Given the description of an element on the screen output the (x, y) to click on. 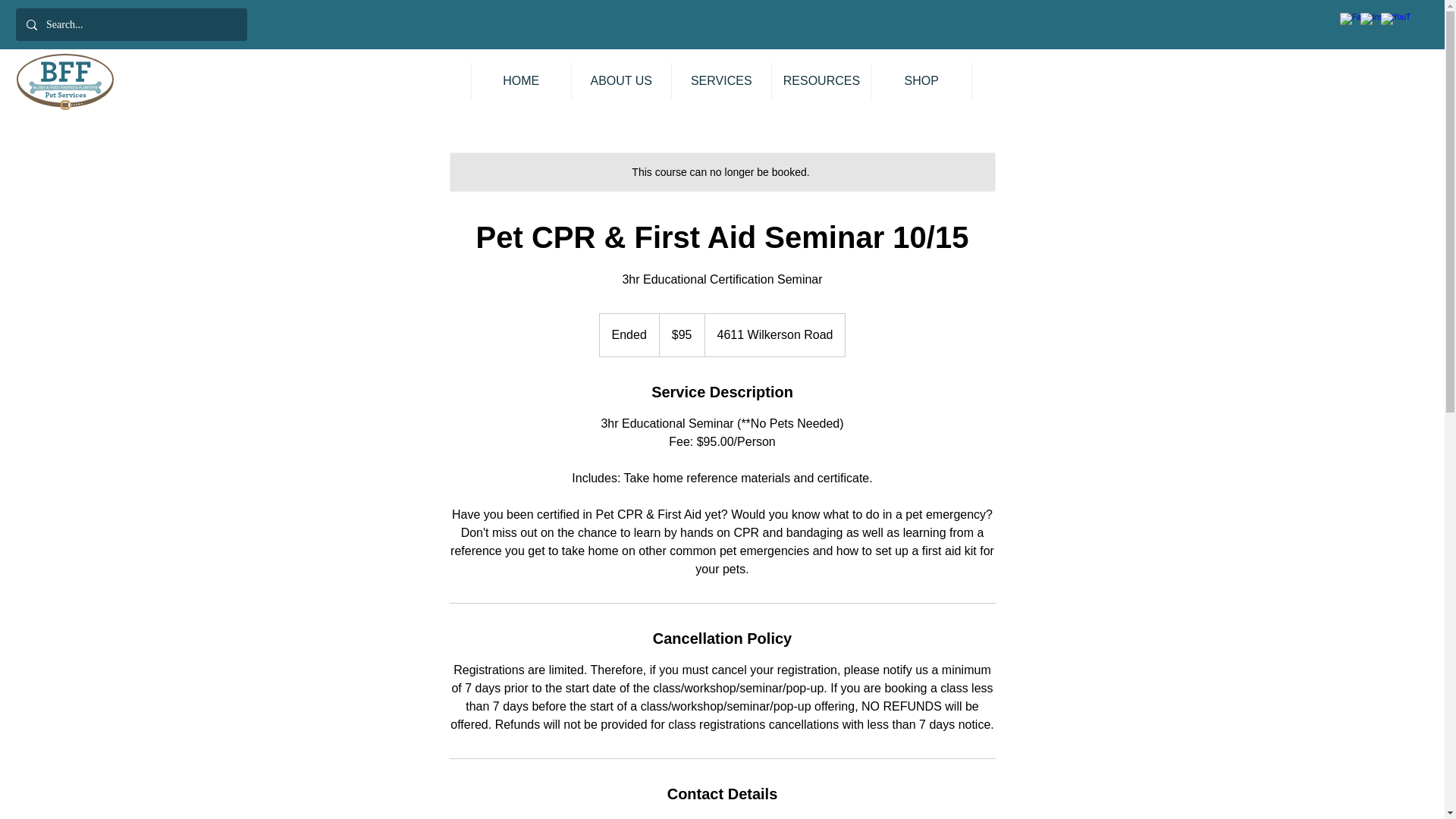
ABOUT US (620, 80)
Log In (1357, 84)
HOME (520, 80)
